Given the description of an element on the screen output the (x, y) to click on. 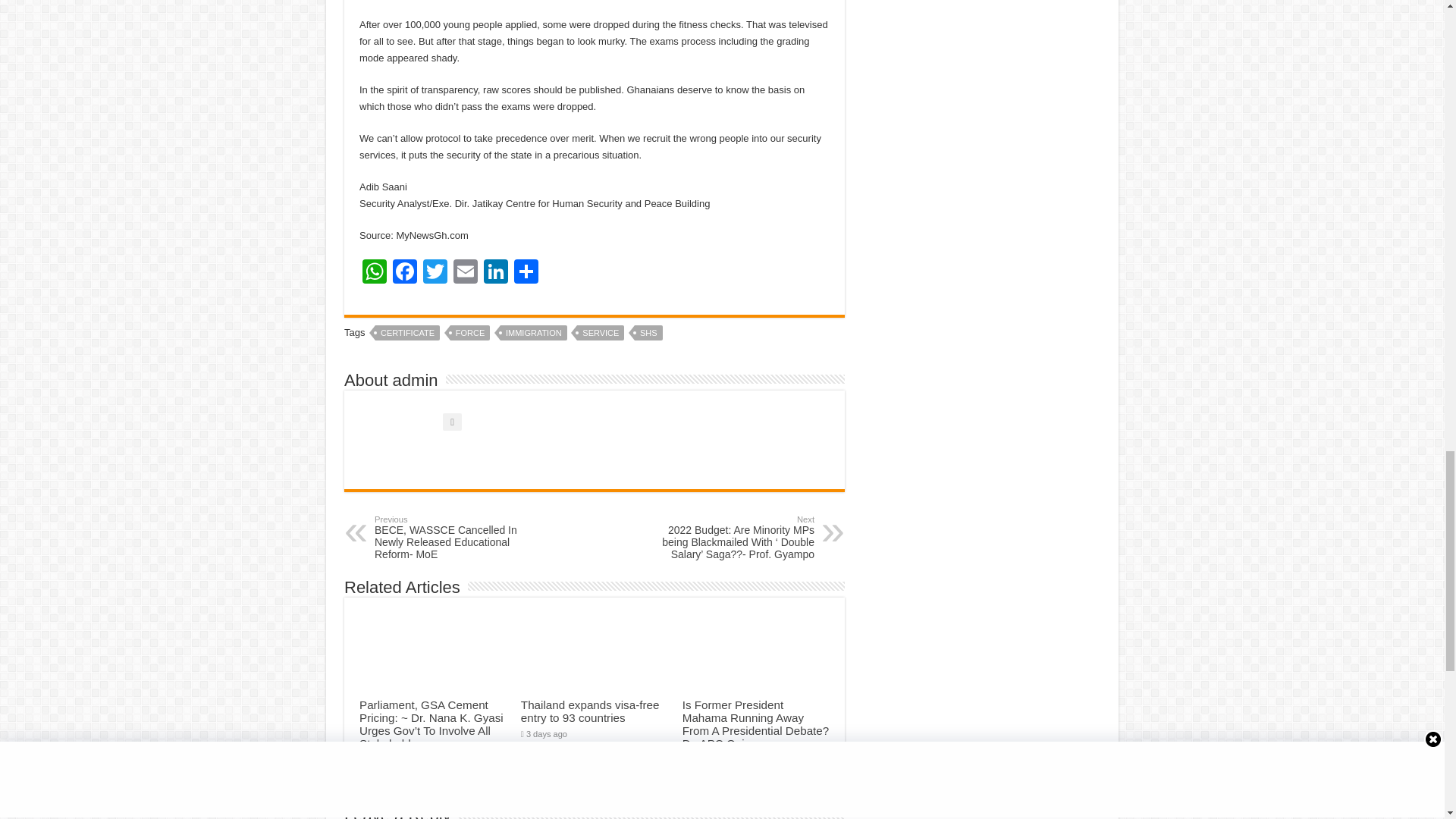
WhatsApp (374, 273)
